Given the description of an element on the screen output the (x, y) to click on. 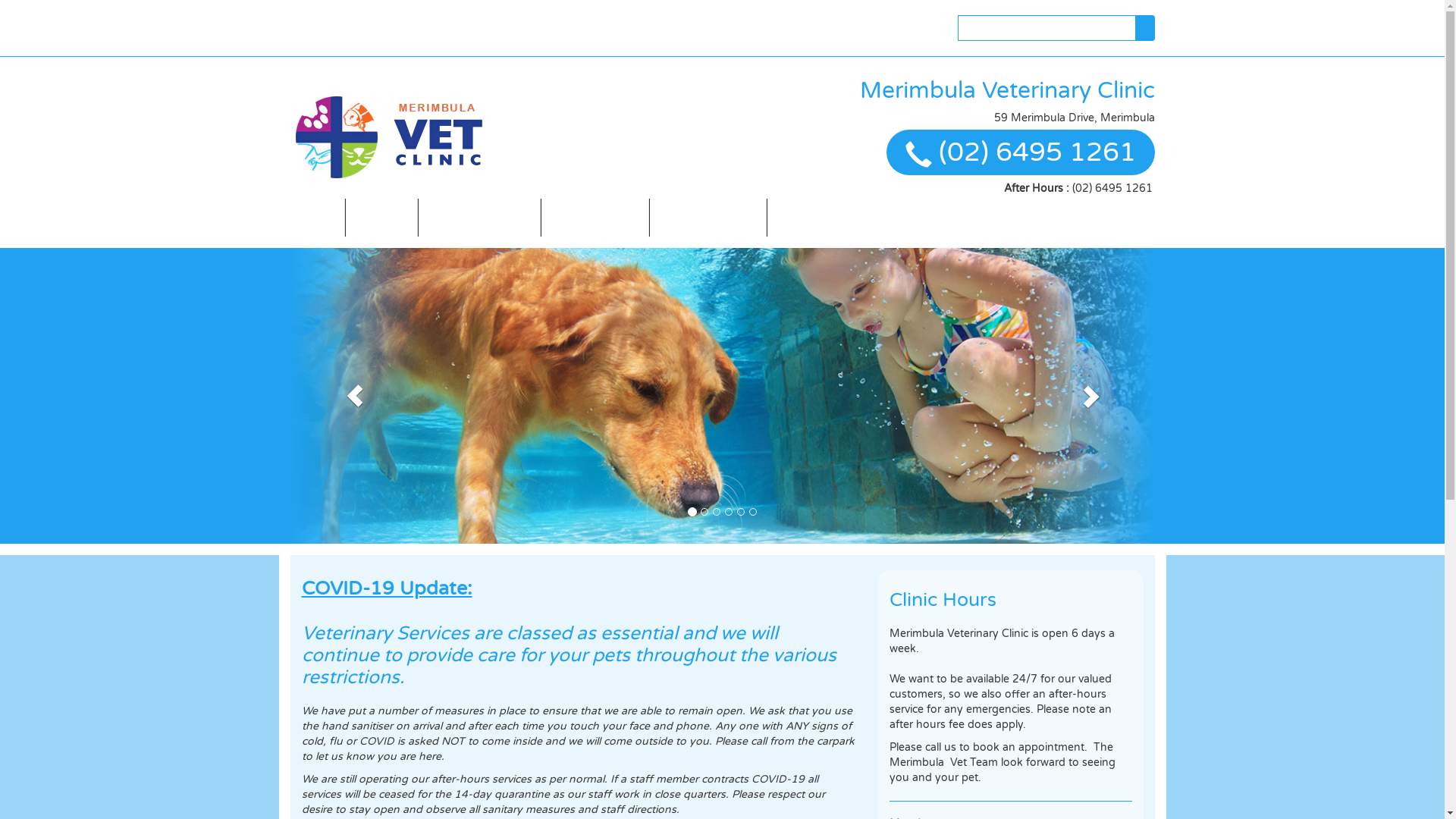
Healthcare Services Element type: text (478, 217)
Pet Care Services Element type: text (820, 217)
Surgical Services Element type: text (593, 217)
About Us Element type: text (380, 217)
Home Element type: text (316, 217)
(02) 6495 1261 Element type: text (1112, 188)
Wellbeing Services Element type: text (707, 217)
(02) 6495 1261 Element type: text (1036, 152)
